Given the description of an element on the screen output the (x, y) to click on. 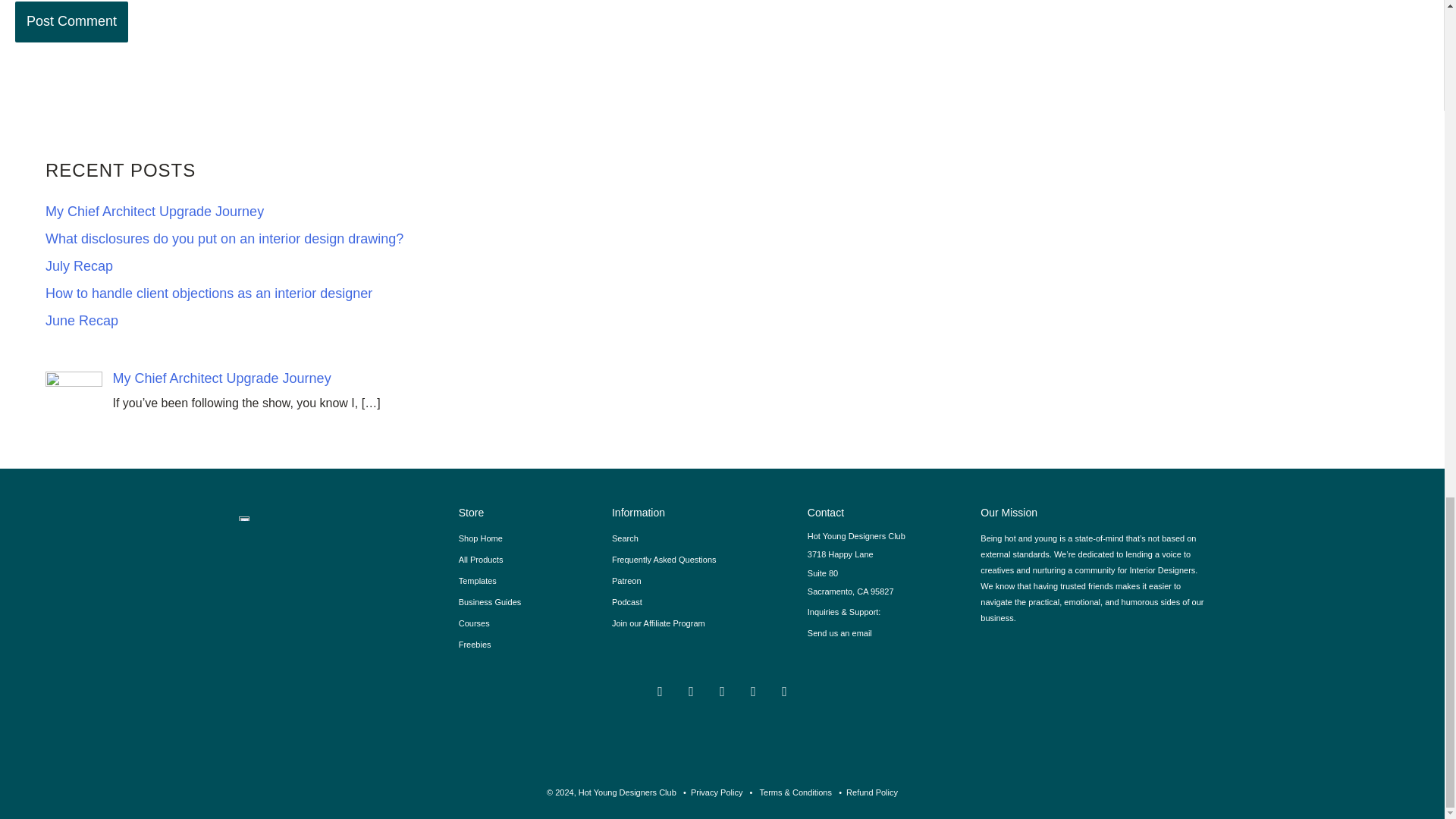
June Recap (81, 320)
July Recap (79, 265)
My Chief Architect Upgrade Journey (221, 378)
Post Comment (71, 21)
How to handle client objections as an interior designer (208, 293)
Shop Home (527, 537)
Templates (527, 580)
My Chief Architect Upgrade Journey (154, 211)
All Products (527, 559)
What disclosures do you put on an interior design drawing? (224, 238)
